Given the description of an element on the screen output the (x, y) to click on. 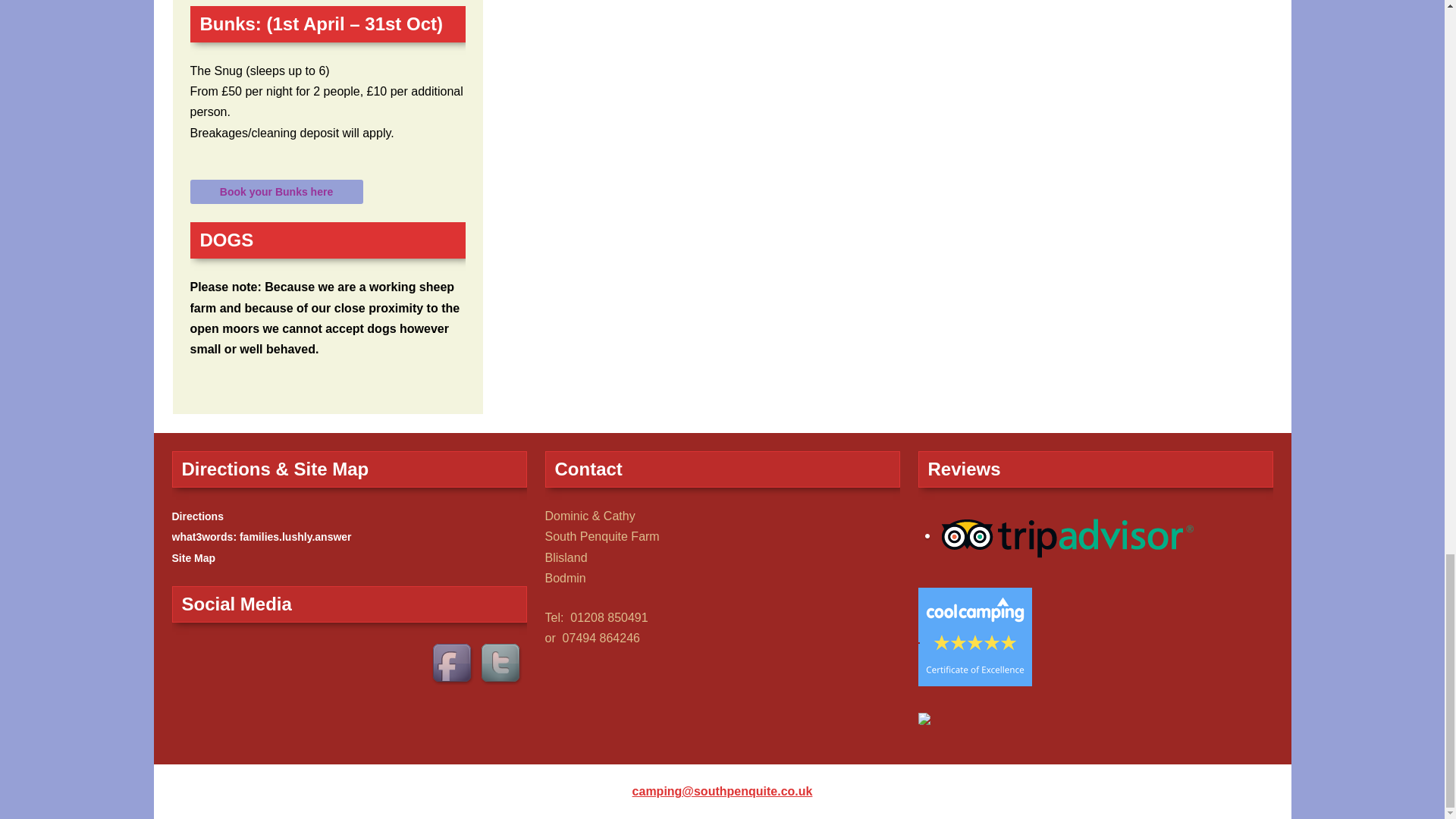
facebook (453, 664)
Recommended by PitchUp (923, 717)
Recommended by Cool Camping (973, 635)
twitter (501, 664)
